Given the description of an element on the screen output the (x, y) to click on. 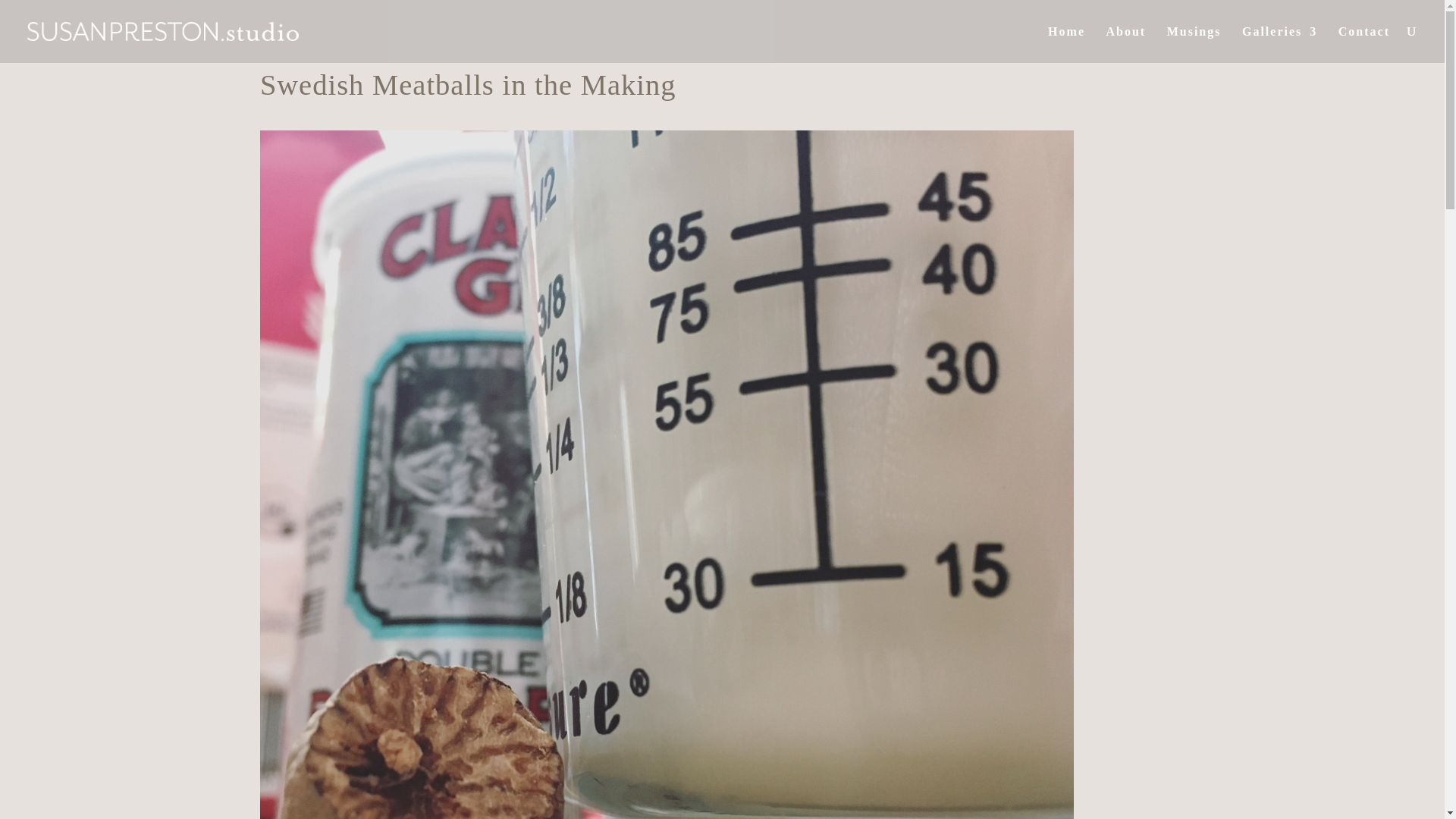
Galleries (1279, 44)
About (1125, 44)
Home (1066, 44)
Contact (1364, 44)
Musings (1194, 44)
